Given the description of an element on the screen output the (x, y) to click on. 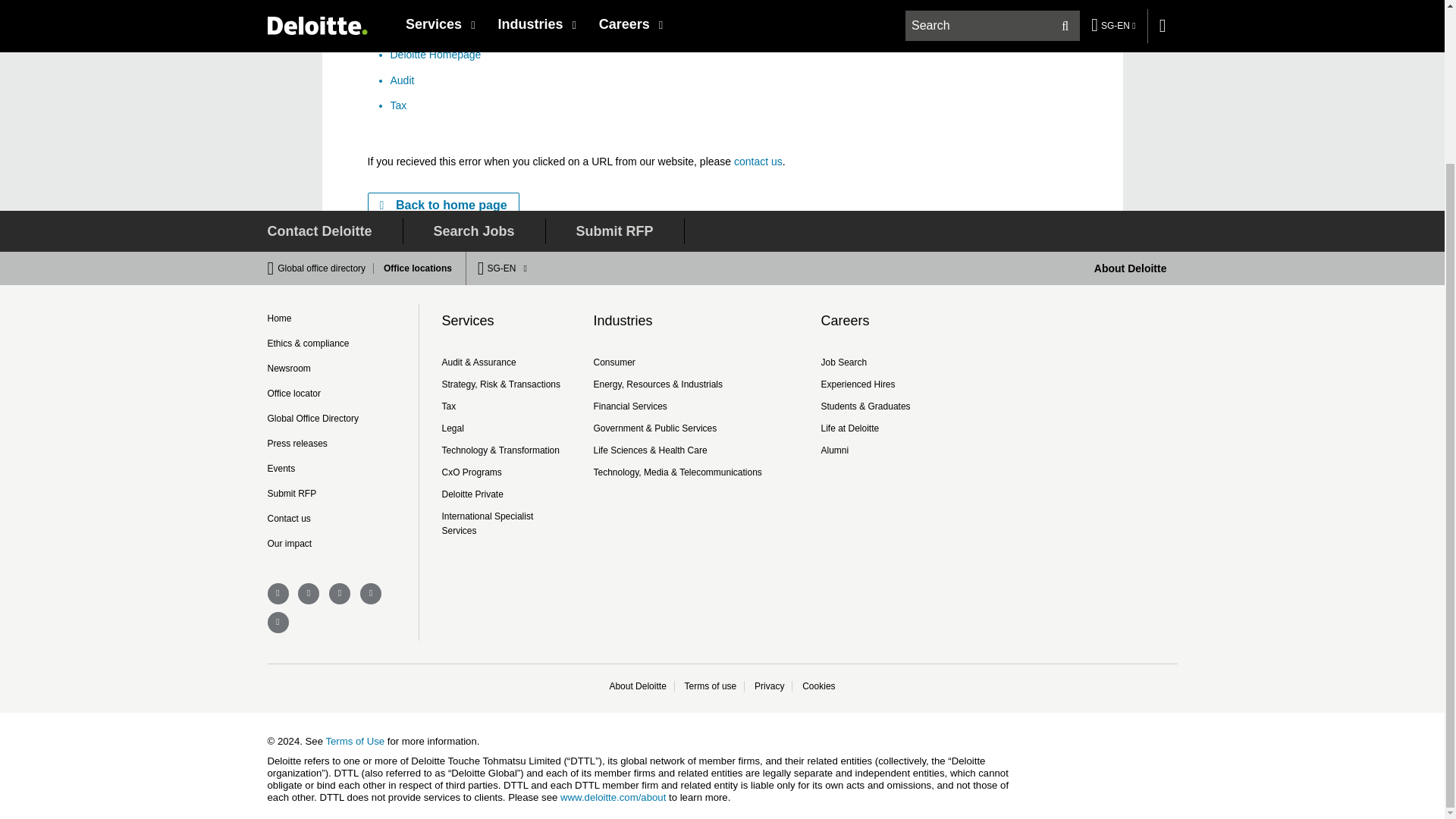
linkedin (339, 593)
About Deloitte (1130, 268)
twitter (308, 593)
Office locations (413, 267)
instagram (370, 593)
Global office directory (326, 267)
youtube (277, 622)
facebook (277, 593)
